Given the description of an element on the screen output the (x, y) to click on. 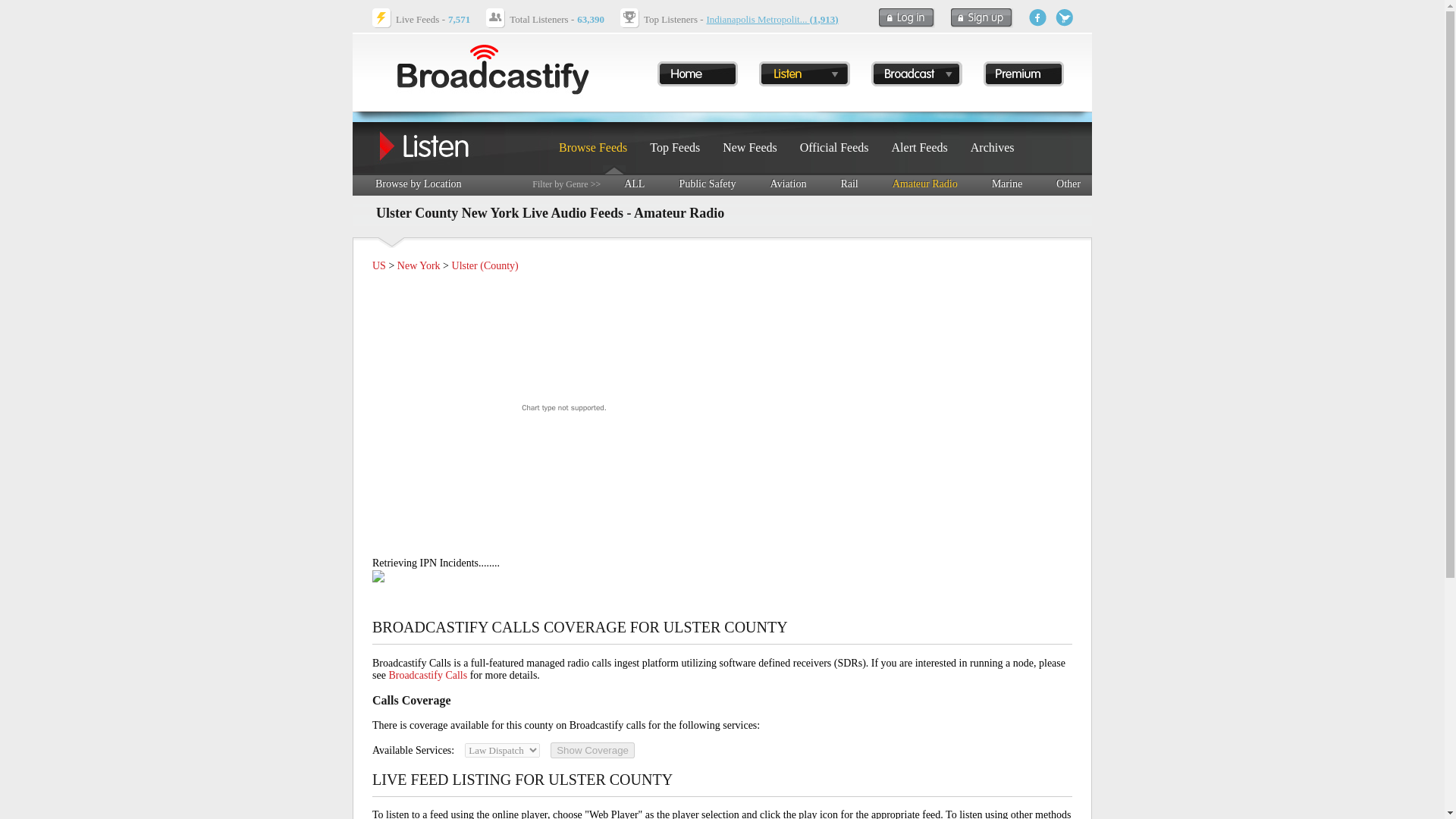
Browse by Location (418, 183)
Official Feeds (834, 146)
Aviation (788, 183)
Rail (848, 183)
New Feeds (749, 146)
Alert Feeds (919, 146)
New York (419, 265)
Archives (992, 146)
ALL (564, 406)
Broadcastify Calls (634, 183)
Public Safety (427, 674)
Show Coverage (706, 183)
Amateur Radio (592, 750)
Top Feeds (925, 183)
